Given the description of an element on the screen output the (x, y) to click on. 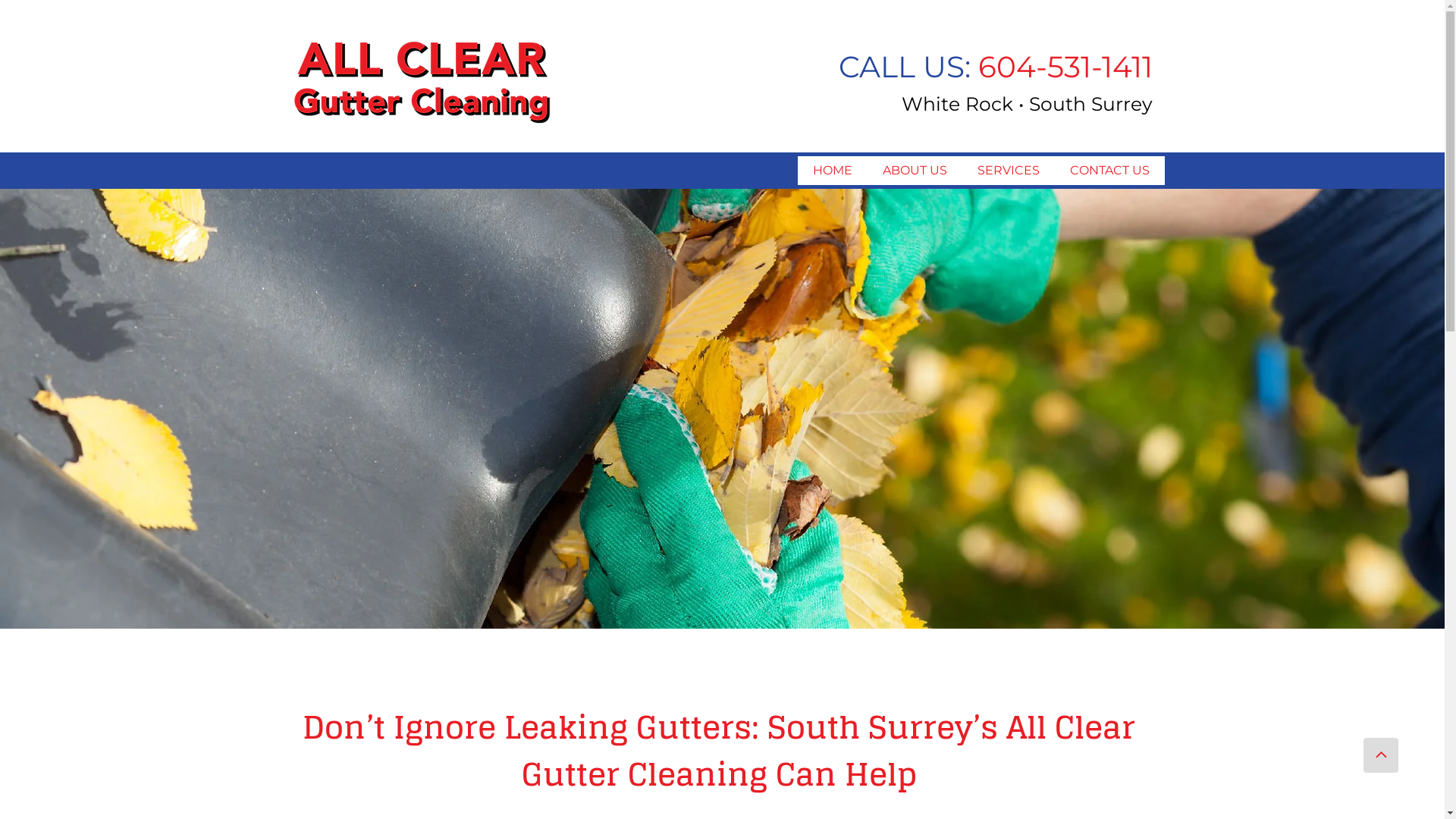
HOME Element type: text (832, 170)
604-531-1411 Element type: text (1065, 74)
SERVICES Element type: text (1008, 170)
CONTACT US Element type: text (1109, 170)
ABOUT US Element type: text (914, 170)
